Given the description of an element on the screen output the (x, y) to click on. 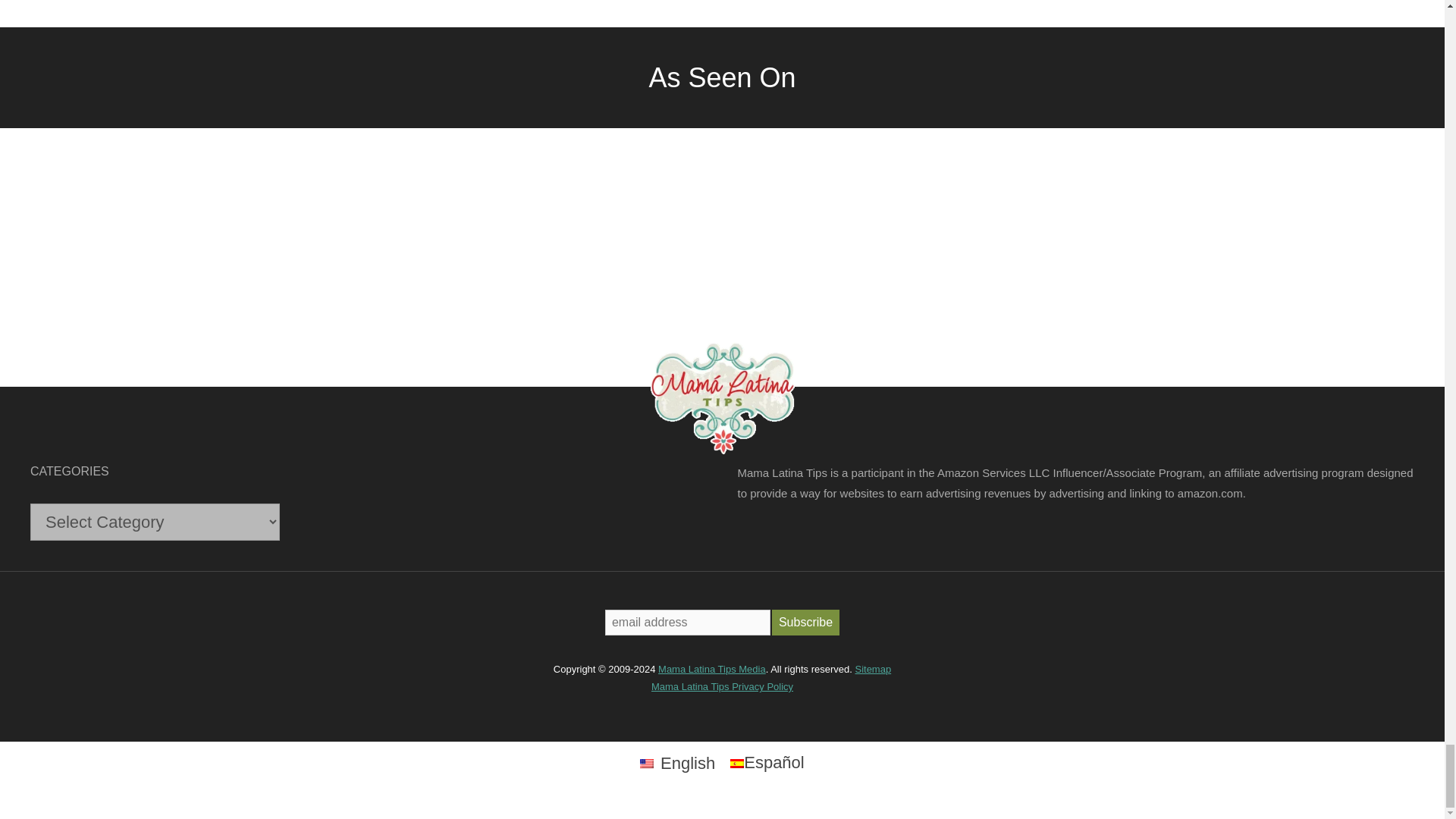
Subscribe (805, 622)
